Given the description of an element on the screen output the (x, y) to click on. 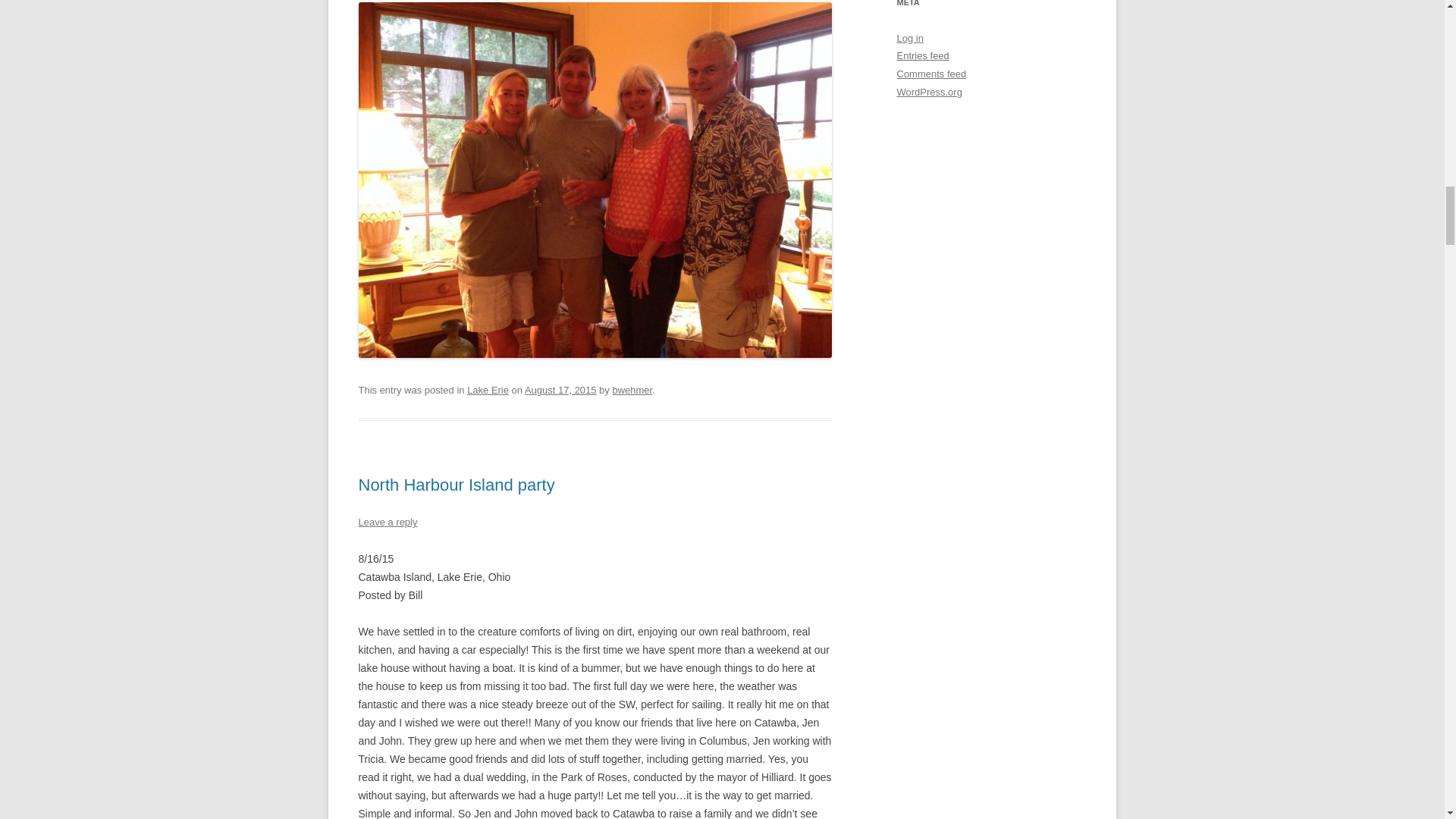
North Harbour Island party (456, 484)
View all posts by bwehmer (631, 389)
bwehmer (631, 389)
Lake Erie (487, 389)
2:15 pm (560, 389)
August 17, 2015 (560, 389)
Leave a reply (387, 521)
